Given the description of an element on the screen output the (x, y) to click on. 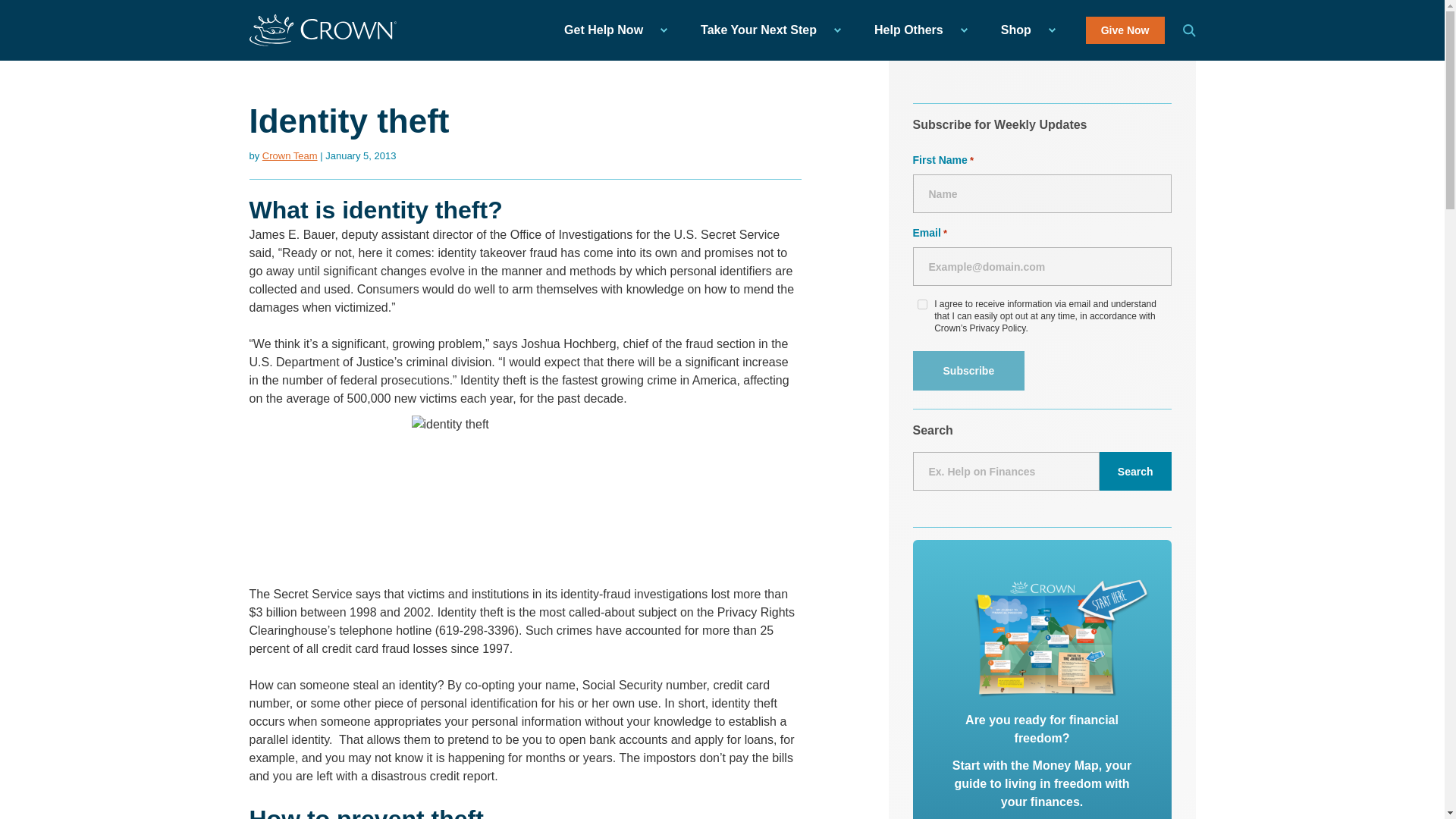
Search (1188, 30)
Take Your Next Step (766, 30)
Get Help Now (611, 30)
Give Now (1125, 30)
Crown Logo 2021 H White 2023 (322, 29)
Help Others (916, 30)
Shop (1023, 30)
Banner Blue Image (1062, 635)
Search (1135, 471)
Subscribe (968, 370)
